Given the description of an element on the screen output the (x, y) to click on. 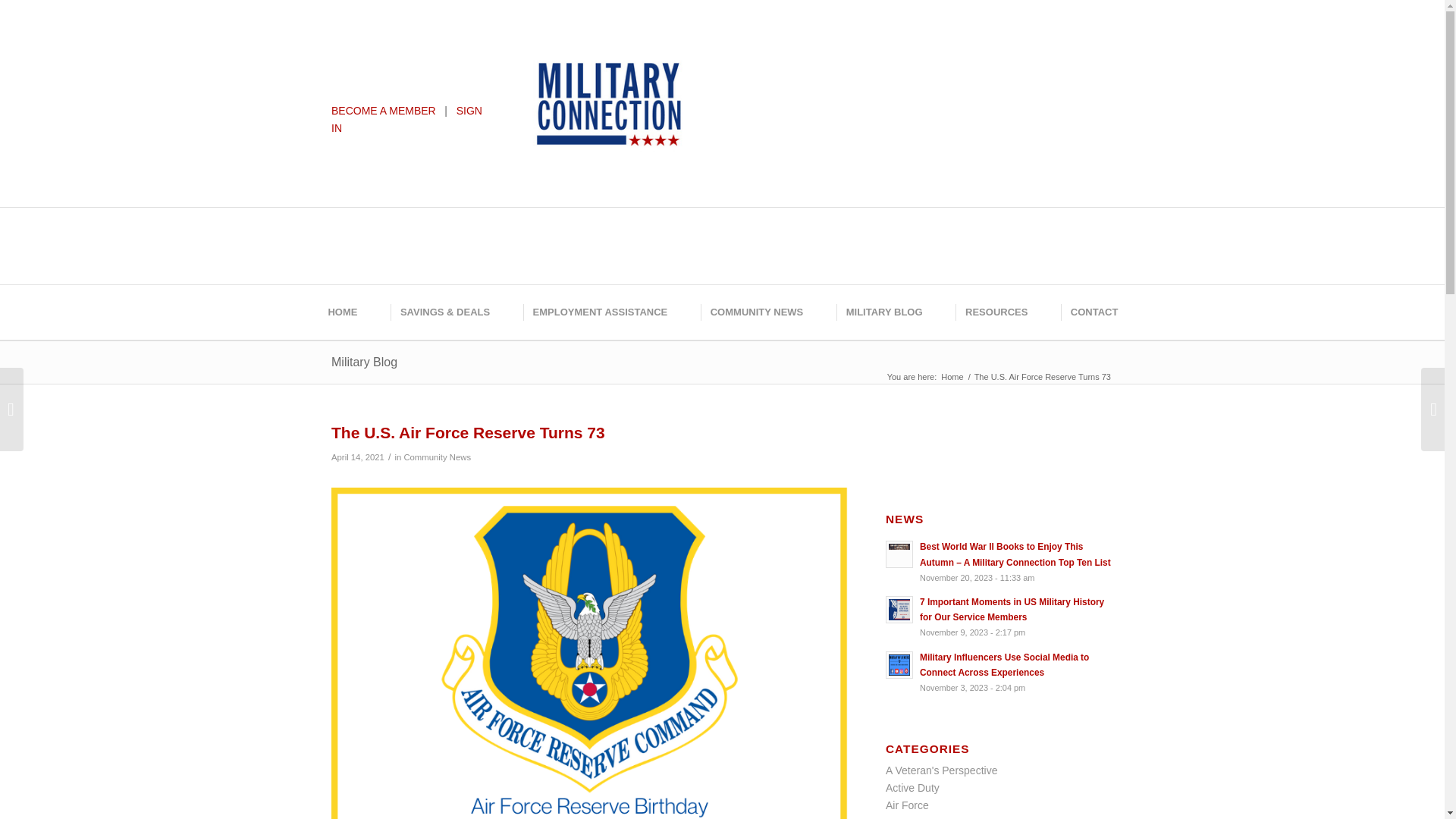
Community News (436, 456)
EMPLOYMENT ASSISTANCE (598, 311)
A Veteran's Perspective (941, 770)
CONTACT (1093, 311)
Military Blog (364, 361)
Air Force (906, 805)
Active Duty (912, 787)
MILITARY BLOG (882, 311)
LinkedIn (838, 48)
Twitter (771, 48)
HOME (341, 311)
RESOURCES (995, 311)
